Given the description of an element on the screen output the (x, y) to click on. 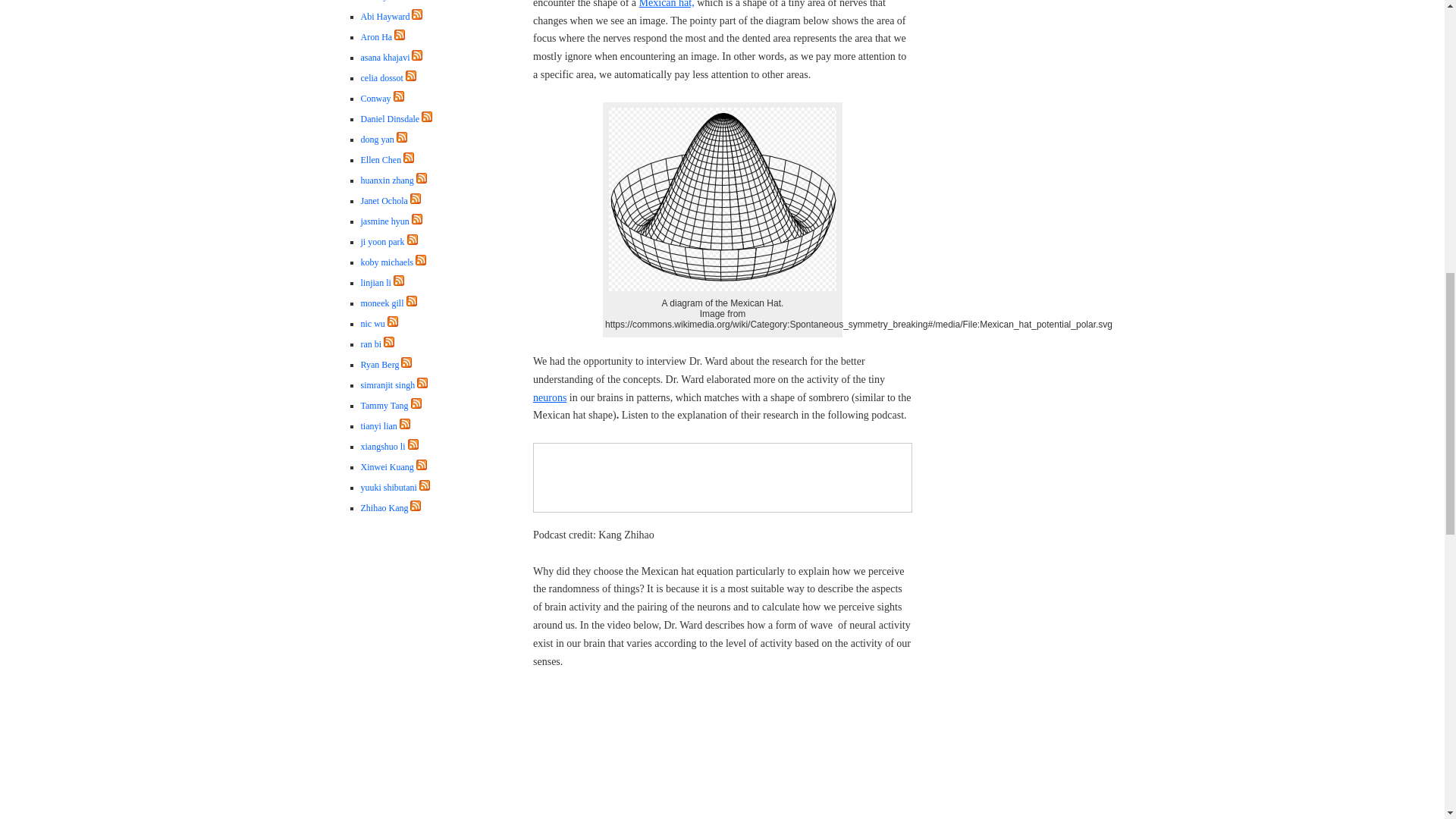
Posts by aaron yen (378, 0)
The study of the brain patterns (722, 753)
Posts by Aron Ha (377, 36)
Posts by Abi Hayward (385, 16)
RSS feed (417, 57)
RSS feed (417, 16)
Posts by asana khajavi (385, 57)
RSS feed (399, 34)
neurons (549, 397)
RSS feed (399, 36)
RSS feed (417, 14)
Mexican hat, (666, 4)
